Given the description of an element on the screen output the (x, y) to click on. 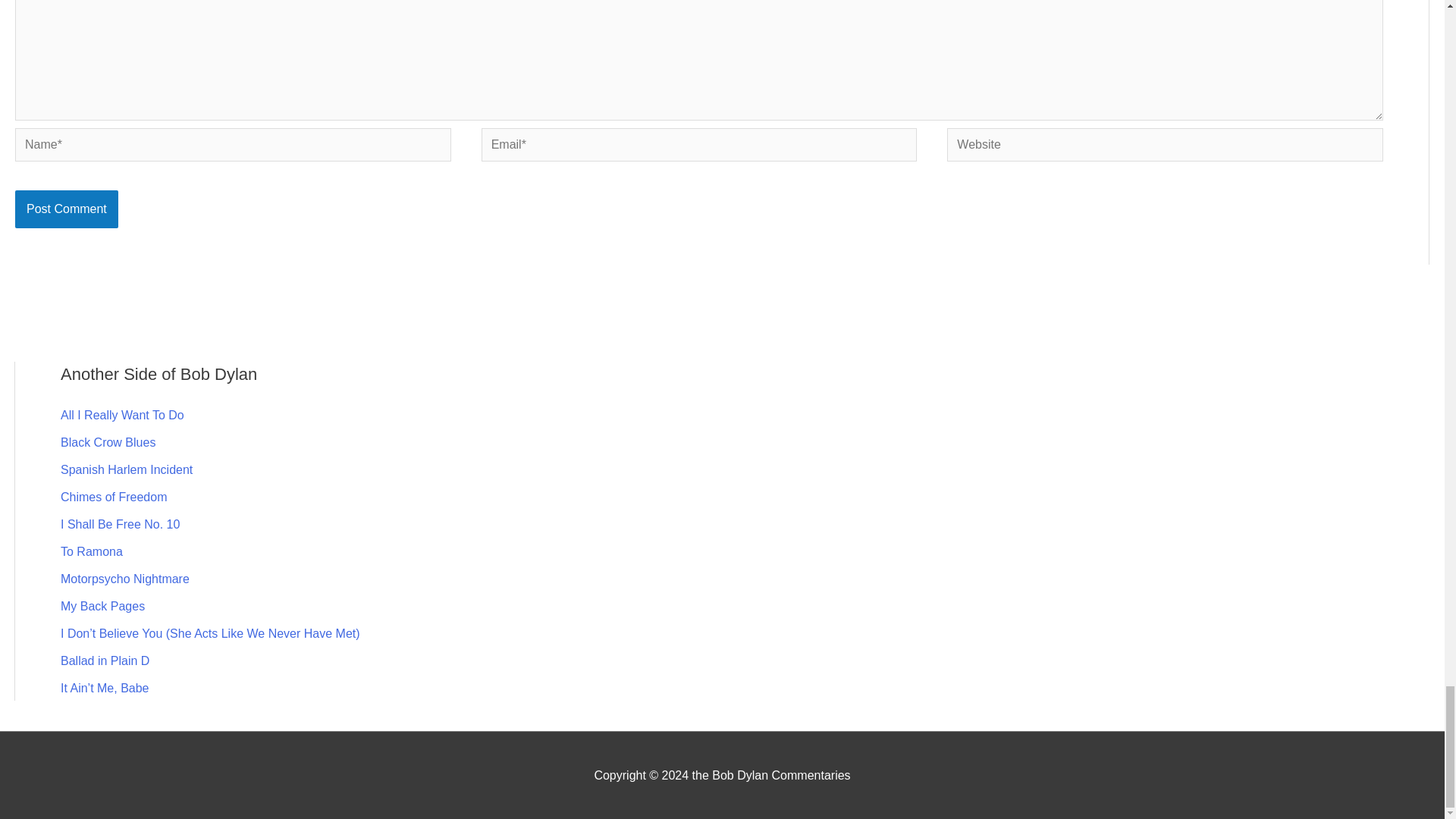
My Back Pages (102, 604)
Post Comment (65, 209)
I Shall Be Free No. 10 (120, 522)
Post Comment (65, 209)
To Ramona (91, 550)
Chimes of Freedom (114, 495)
Motorpsycho Nightmare (125, 577)
Ballad in Plain D (105, 659)
Black Crow Blues (108, 440)
Spanish Harlem Incident (126, 468)
